Given the description of an element on the screen output the (x, y) to click on. 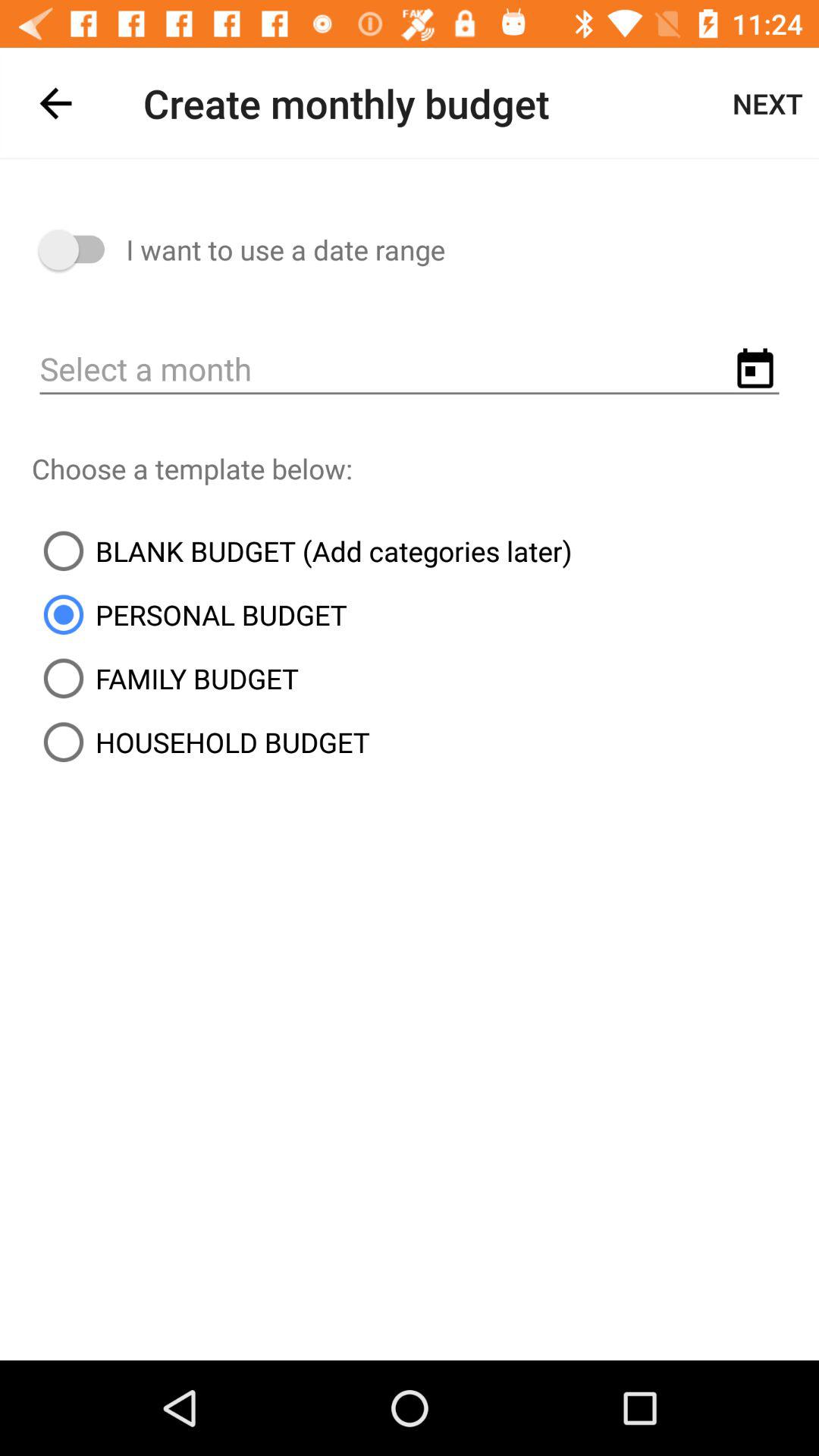
turn on for date range (78, 249)
